Given the description of an element on the screen output the (x, y) to click on. 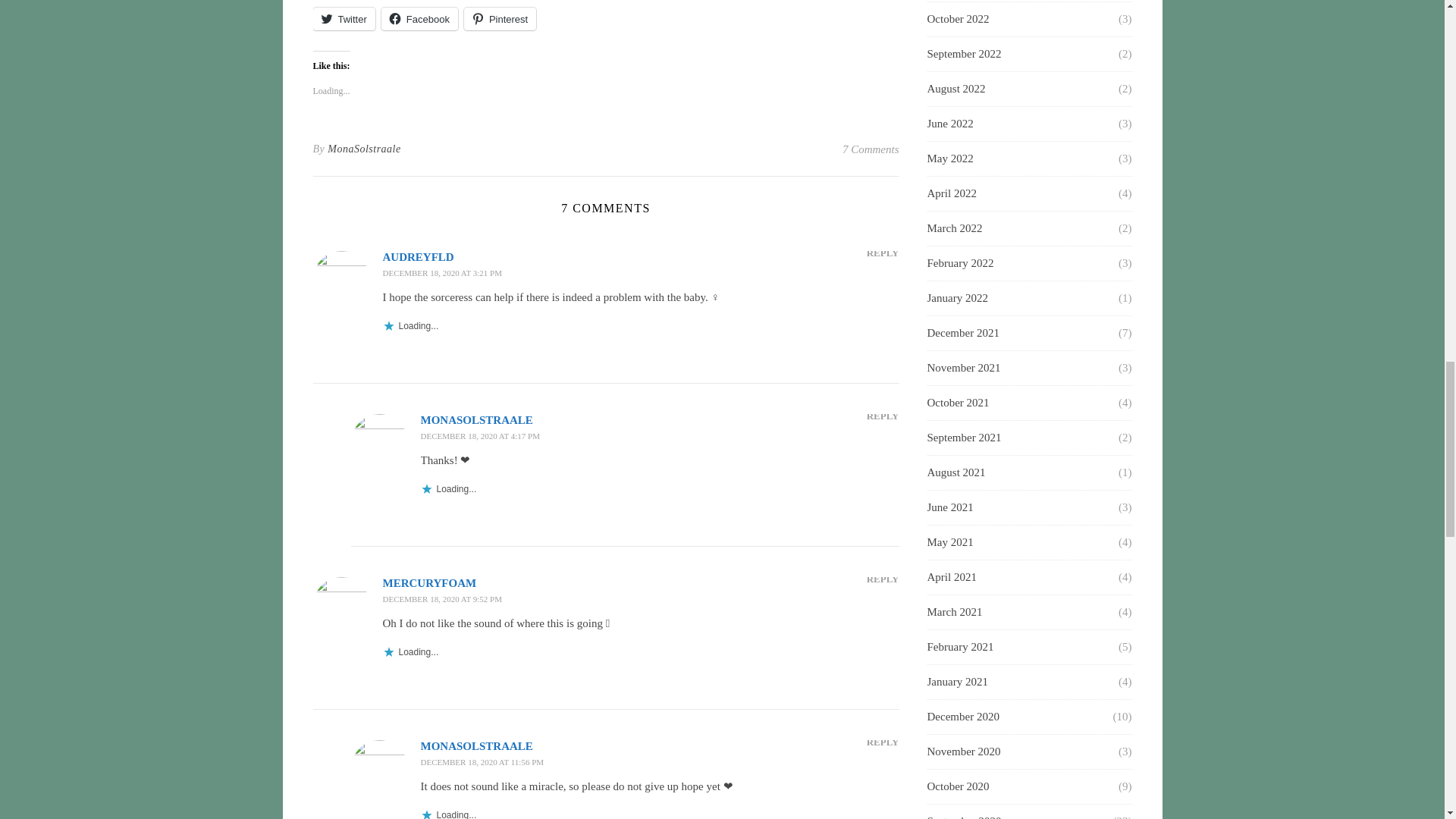
Click to share on Facebook (419, 18)
Click to share on Twitter (343, 18)
Posts by MonaSolstraale (363, 149)
Click to share on Pinterest (499, 18)
